Given the description of an element on the screen output the (x, y) to click on. 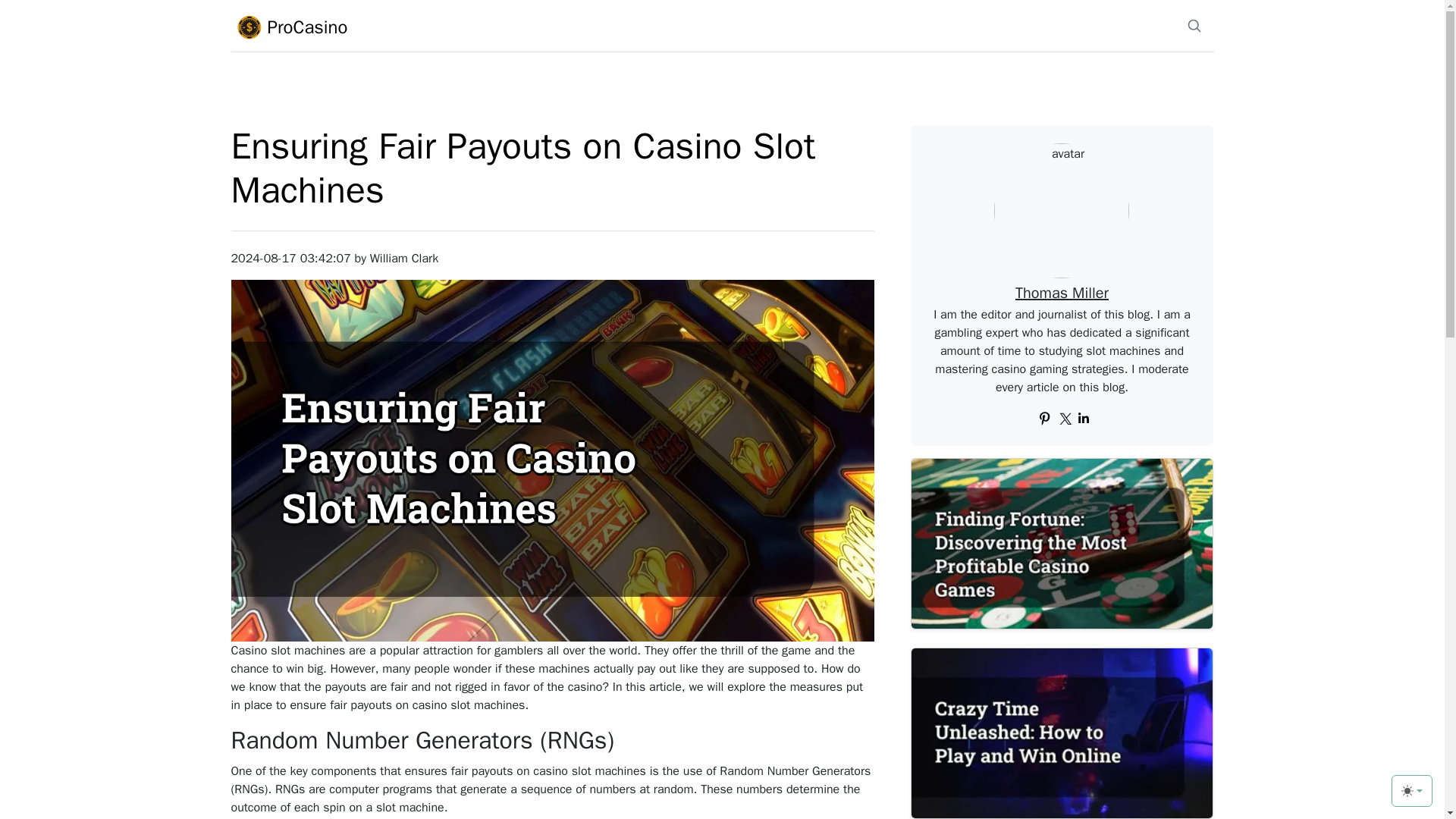
ProCasino (388, 27)
Search (1192, 25)
Toggle theme (1411, 790)
Thomas Miller (1061, 293)
Search (1193, 25)
Crazy Time Unleashed How To Play And Win Online (1061, 733)
Finding Fortune Discovering The Most Profitable Casino Games (1061, 543)
